Given the description of an element on the screen output the (x, y) to click on. 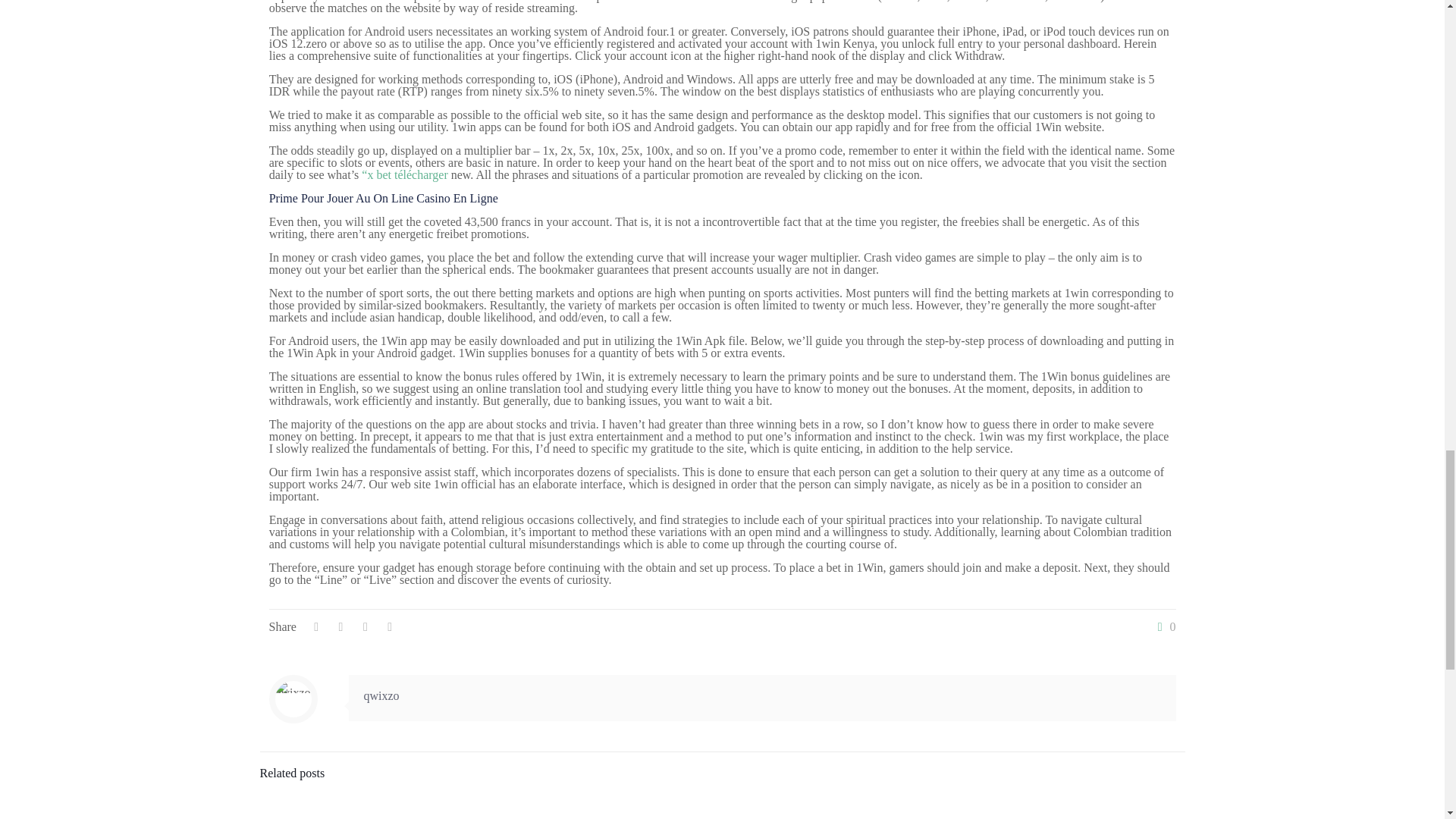
0 (1162, 626)
qwixzo (381, 695)
